Given the description of an element on the screen output the (x, y) to click on. 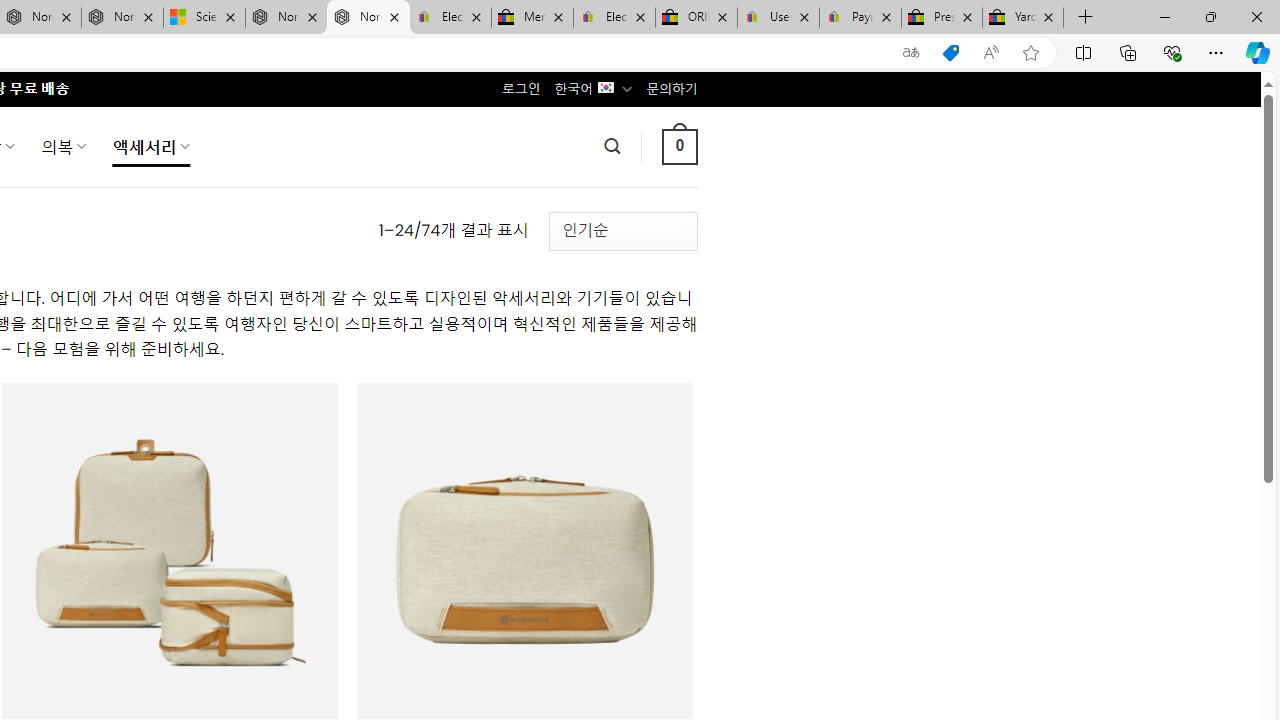
User Privacy Notice | eBay (778, 17)
Nordace - Summer Adventures 2024 (285, 17)
